Given the description of an element on the screen output the (x, y) to click on. 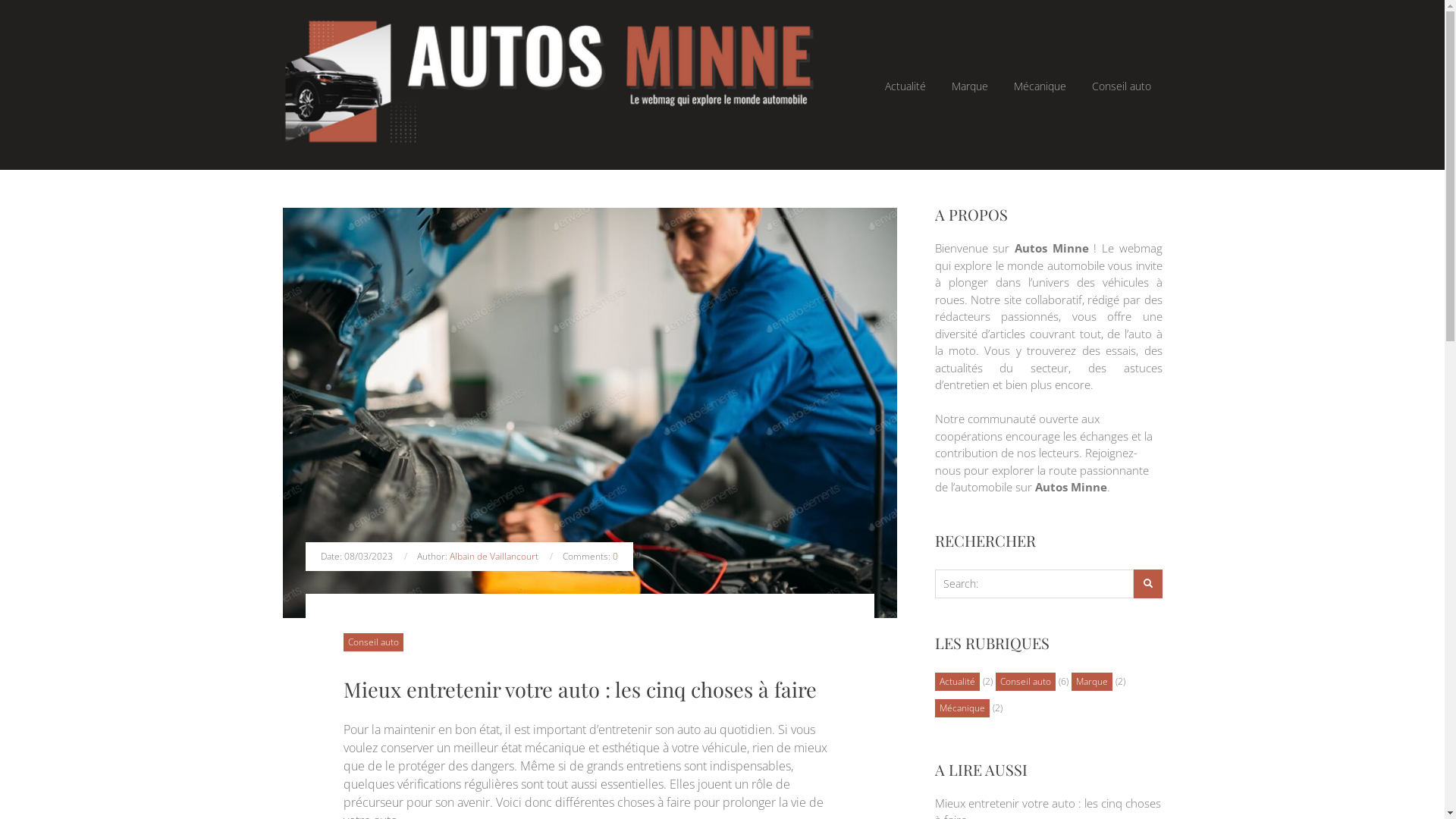
Marque Element type: text (969, 85)
0 Element type: text (615, 555)
Conseil auto Element type: text (1120, 85)
Albain de Vaillancourt Element type: text (493, 555)
Conseil auto Element type: text (1024, 681)
Marque Element type: text (1090, 681)
Category
Conseil auto Element type: text (372, 642)
Search Element type: text (1146, 583)
